Given the description of an element on the screen output the (x, y) to click on. 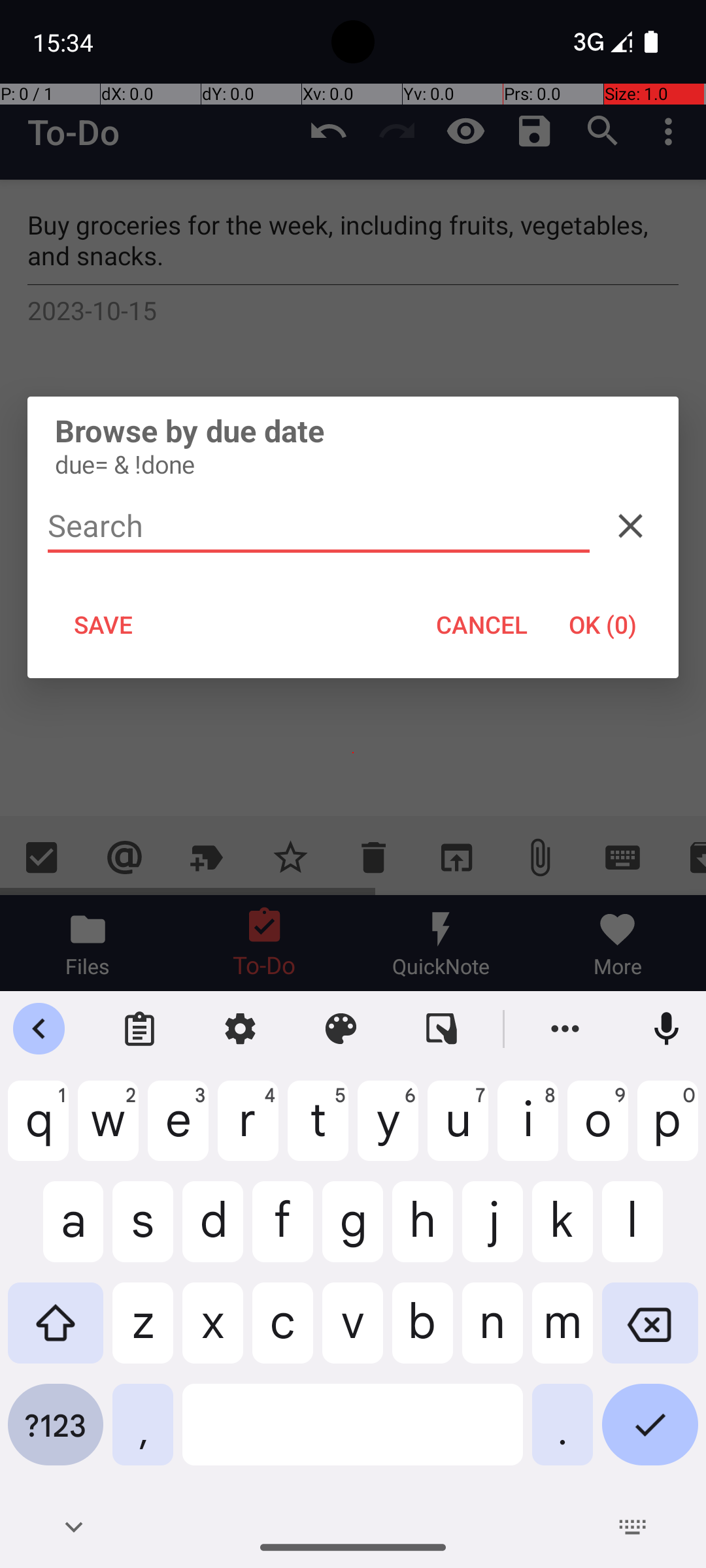
Browse by due date
due= & !done Element type: android.widget.TextView (352, 444)
OK (0) Element type: android.widget.Button (602, 624)
